Given the description of an element on the screen output the (x, y) to click on. 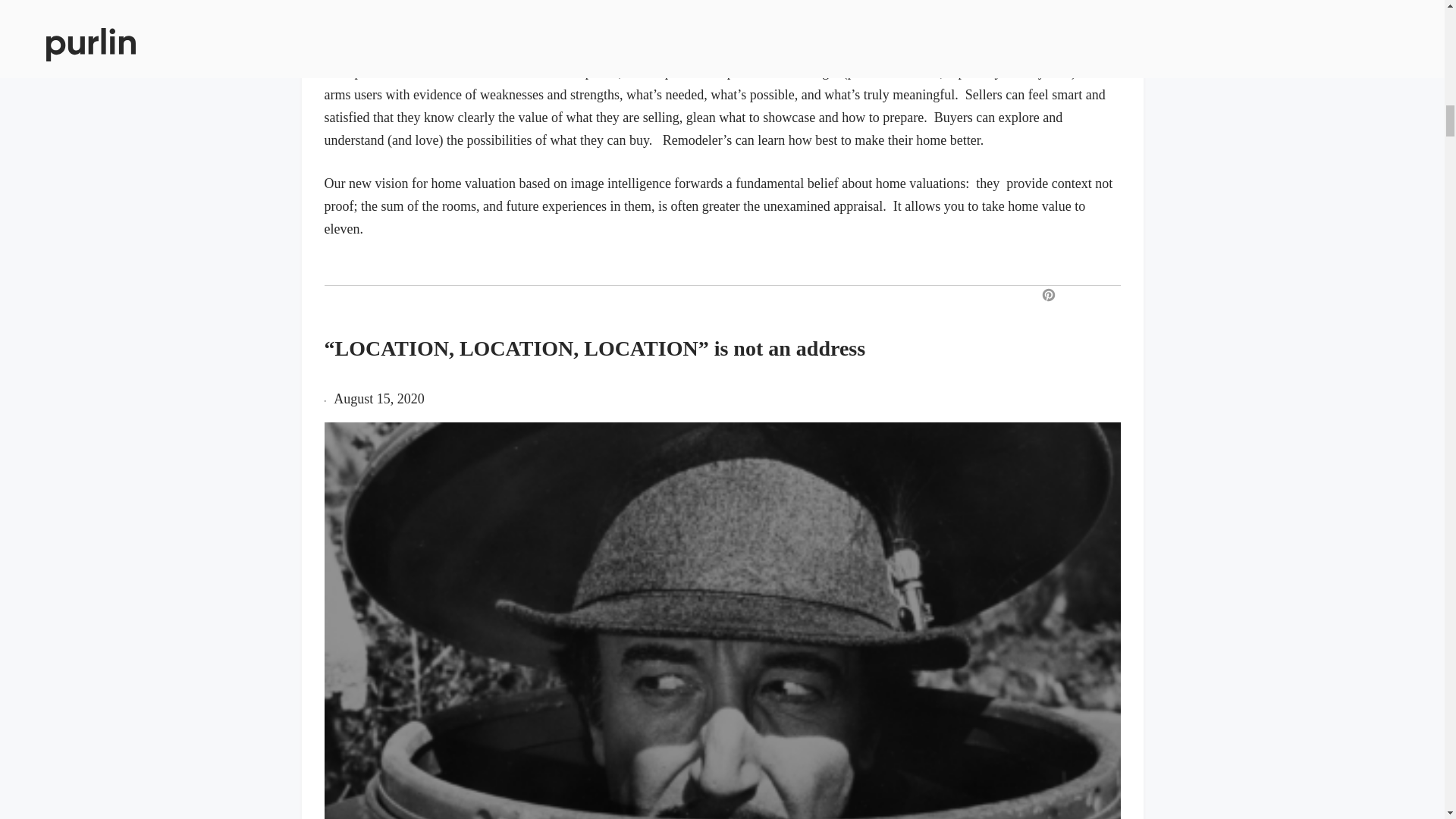
LinkedIn (1127, 295)
Pinterest (1047, 295)
Facebook (1074, 295)
LinkedIn (1127, 295)
Pinterest (1047, 295)
August 15, 2020 (379, 398)
Facebook (1074, 295)
Twitter (1101, 295)
Twitter (1101, 295)
